Given the description of an element on the screen output the (x, y) to click on. 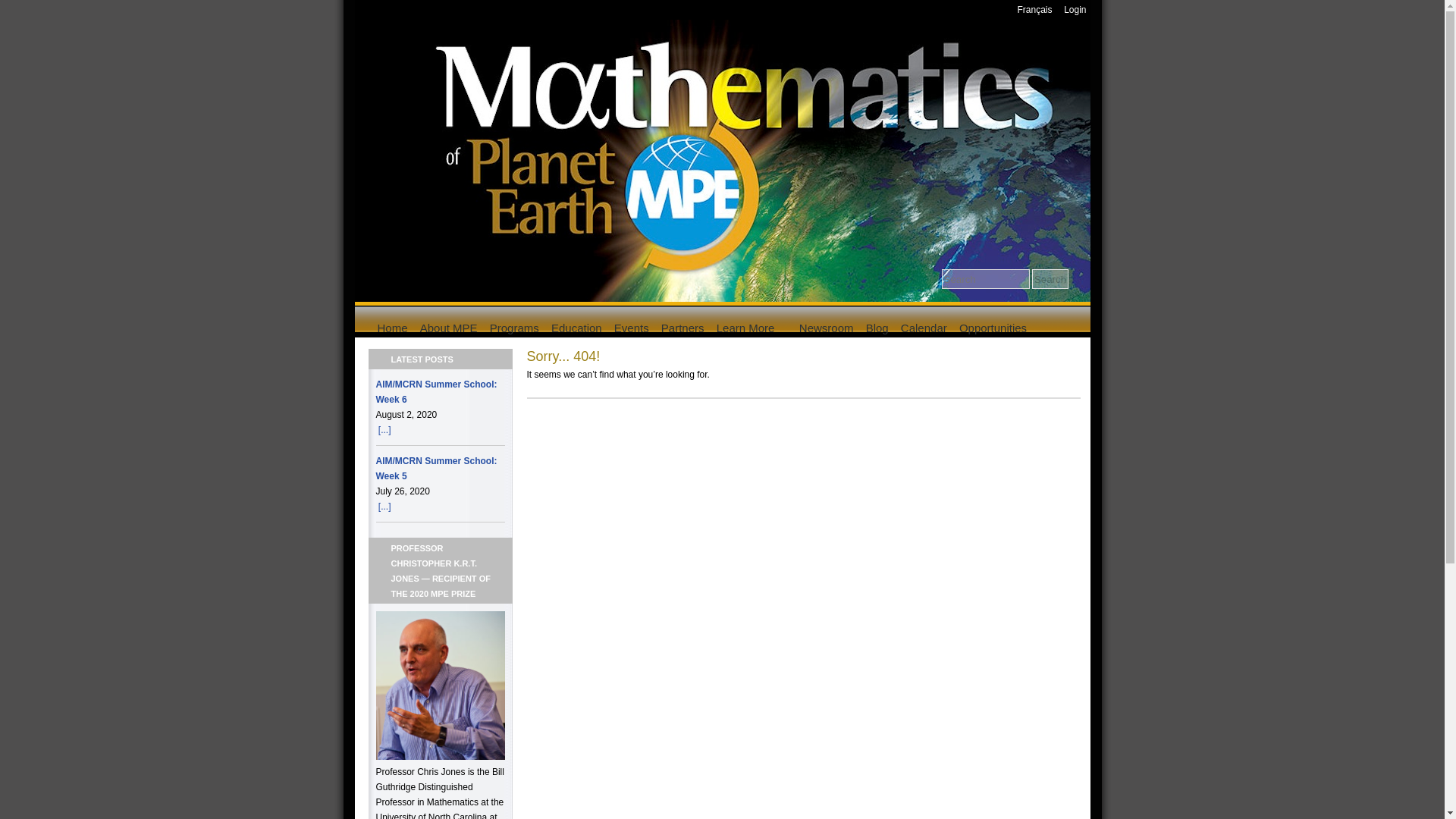
About MPE (448, 327)
Partners (682, 327)
Login (1075, 9)
Programs (513, 327)
Education (682, 327)
Search (1050, 279)
Home (392, 327)
Education (576, 327)
Events (631, 327)
